Given the description of an element on the screen output the (x, y) to click on. 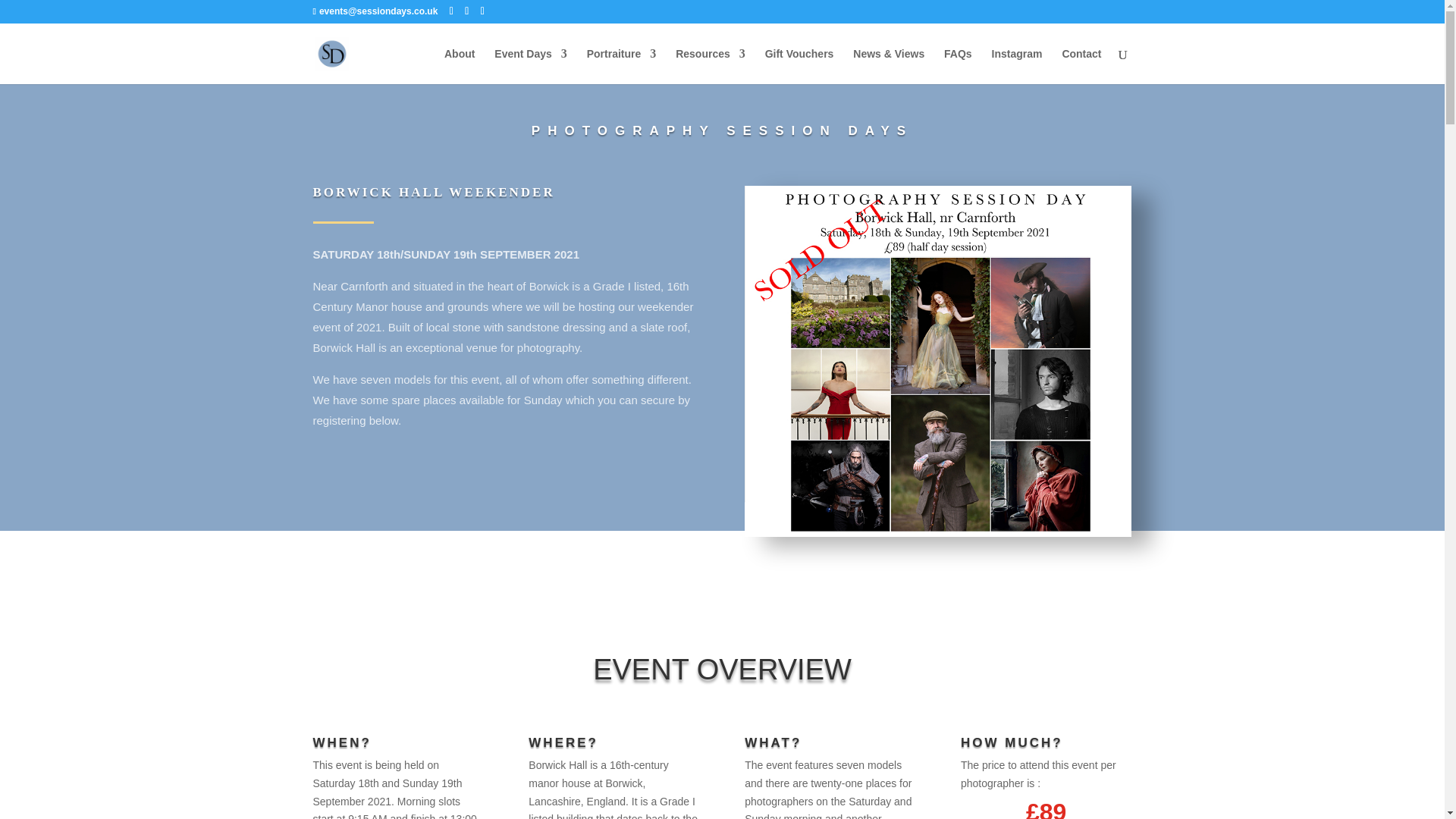
Instagram (1016, 66)
Event Days (530, 66)
Gift Vouchers (799, 66)
Spotlight on Photographers and Models (710, 66)
Portraiture (621, 66)
Blog Posts by Session Days (888, 66)
Session Days Events (530, 66)
Resources (710, 66)
Contact Session Days (1080, 66)
Contact (1080, 66)
